Given the description of an element on the screen output the (x, y) to click on. 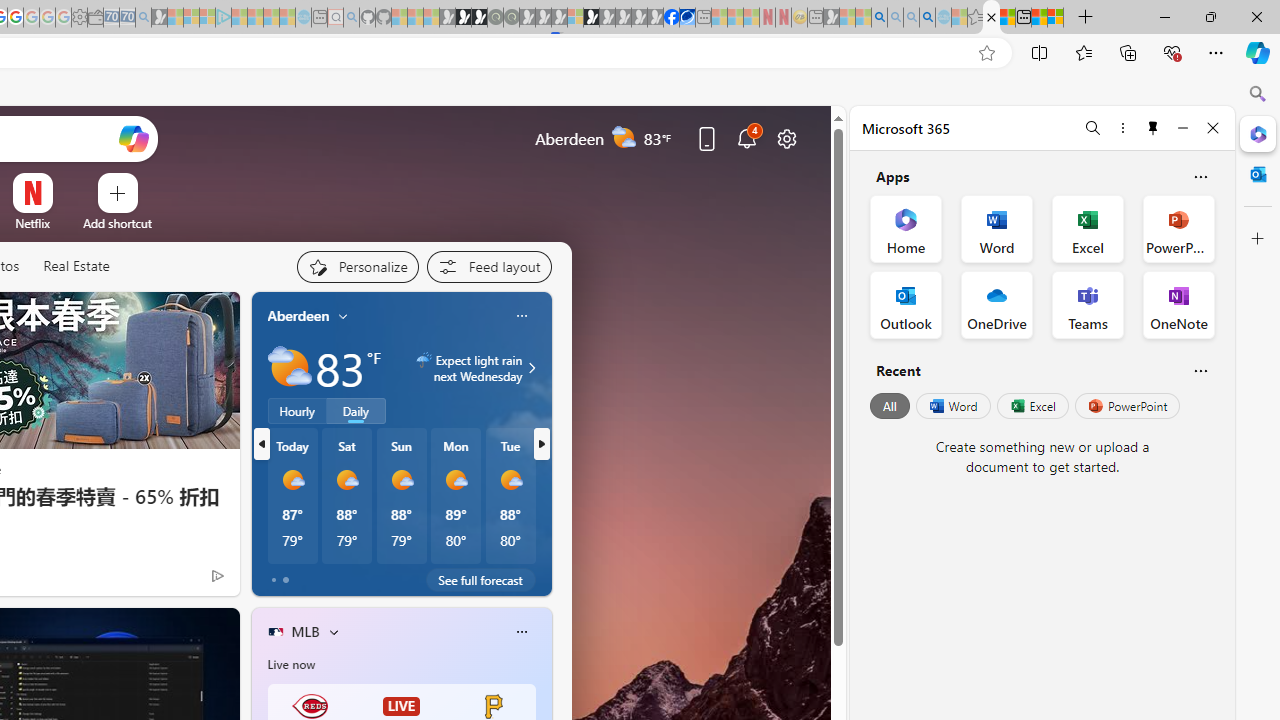
Microsoft Start Gaming - Sleeping (159, 17)
Open Copilot (132, 138)
Play Zoo Boom in your browser | Games from Microsoft Start (463, 17)
Netflix (32, 223)
PowerPoint (1127, 406)
Daily (356, 411)
Favorites - Sleeping (975, 17)
Cheap Car Rentals - Save70.com - Sleeping (127, 17)
